Given the description of an element on the screen output the (x, y) to click on. 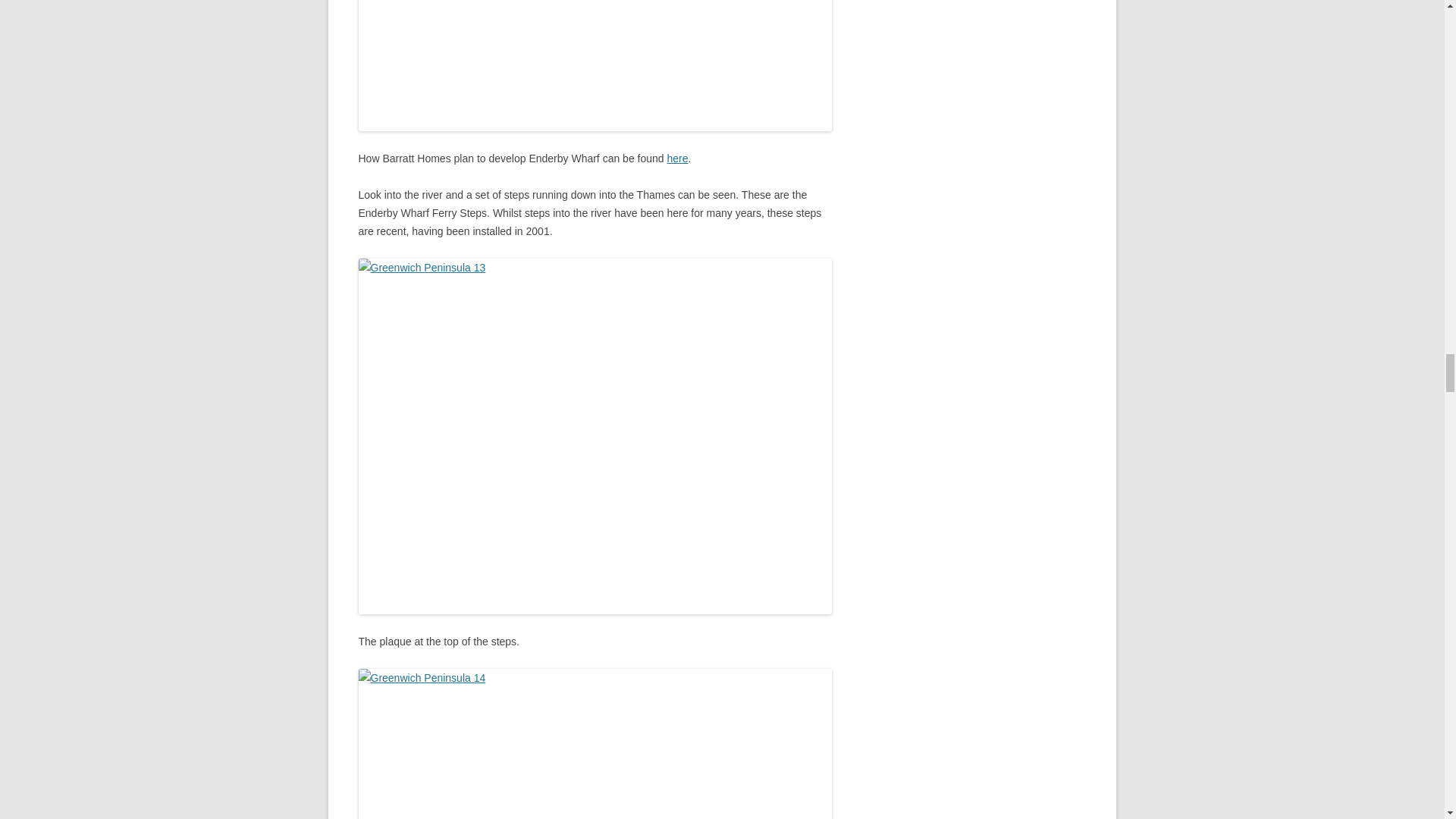
here (677, 158)
